Given the description of an element on the screen output the (x, y) to click on. 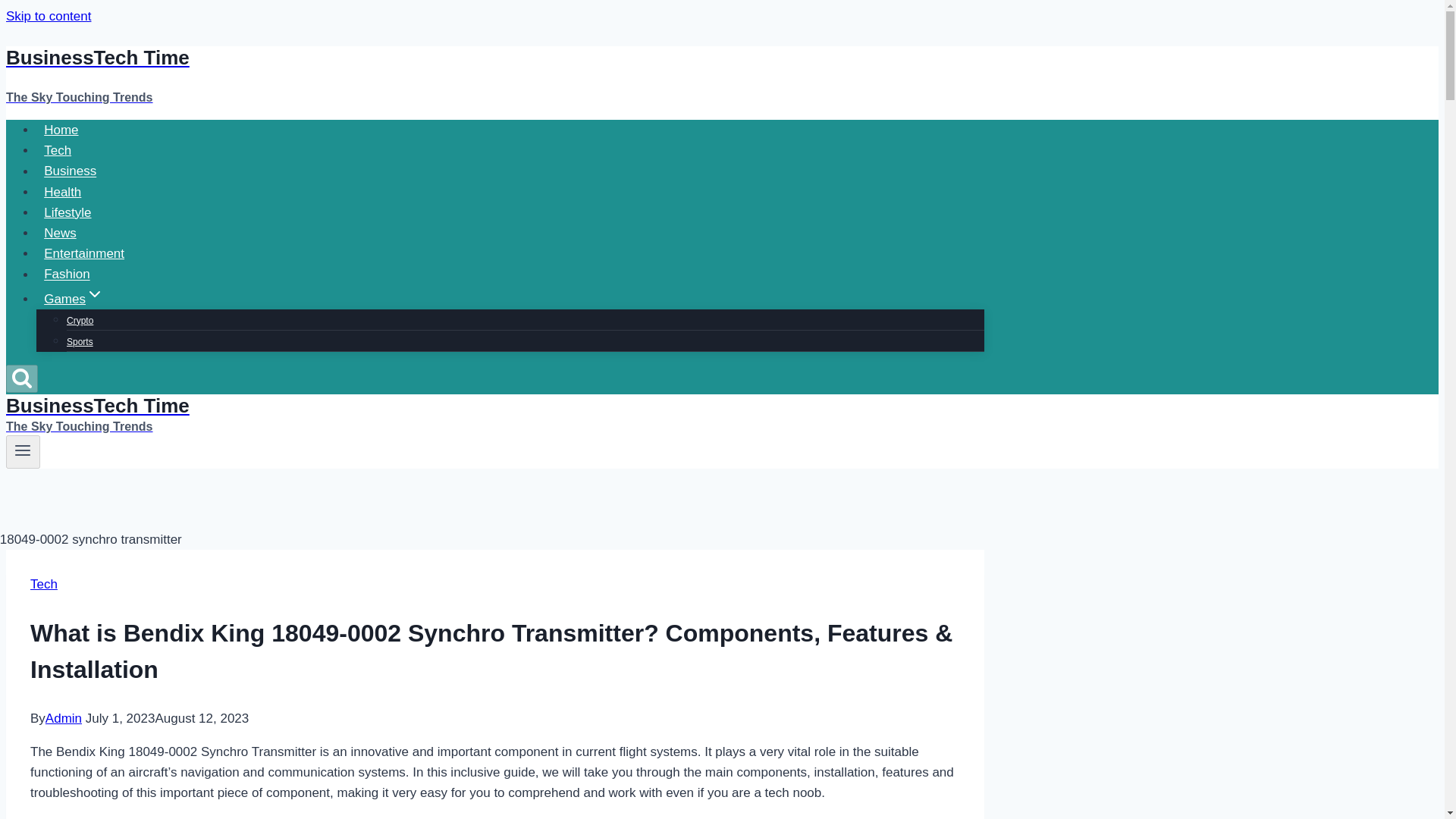
Tech (44, 584)
Home (60, 129)
Crypto (79, 320)
Business (69, 170)
Skip to content (494, 413)
GamesExpand (47, 16)
Health (74, 297)
Lifestyle (62, 192)
Toggle Menu (67, 212)
Entertainment (22, 450)
Toggle Menu (84, 253)
Search (22, 451)
Admin (21, 378)
